Given the description of an element on the screen output the (x, y) to click on. 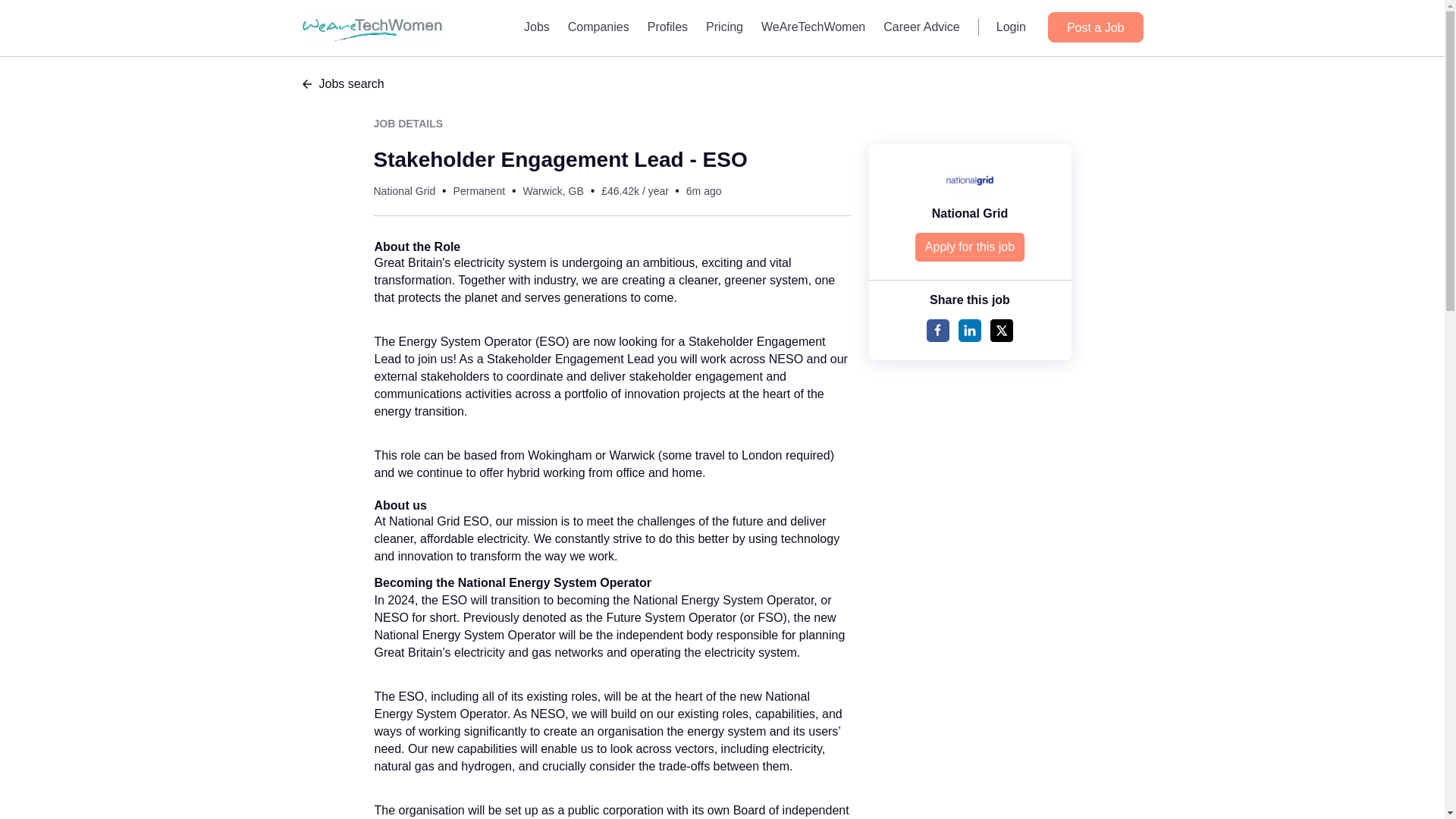
Share to Twitter (1001, 330)
Share to Linkedin (969, 330)
Career Advice (922, 26)
Apply for this job (970, 246)
Companies (599, 26)
WeAreTechWomen (813, 26)
Permanent (478, 191)
Jobs search (721, 84)
Jobs (537, 26)
Pricing (724, 26)
